Given the description of an element on the screen output the (x, y) to click on. 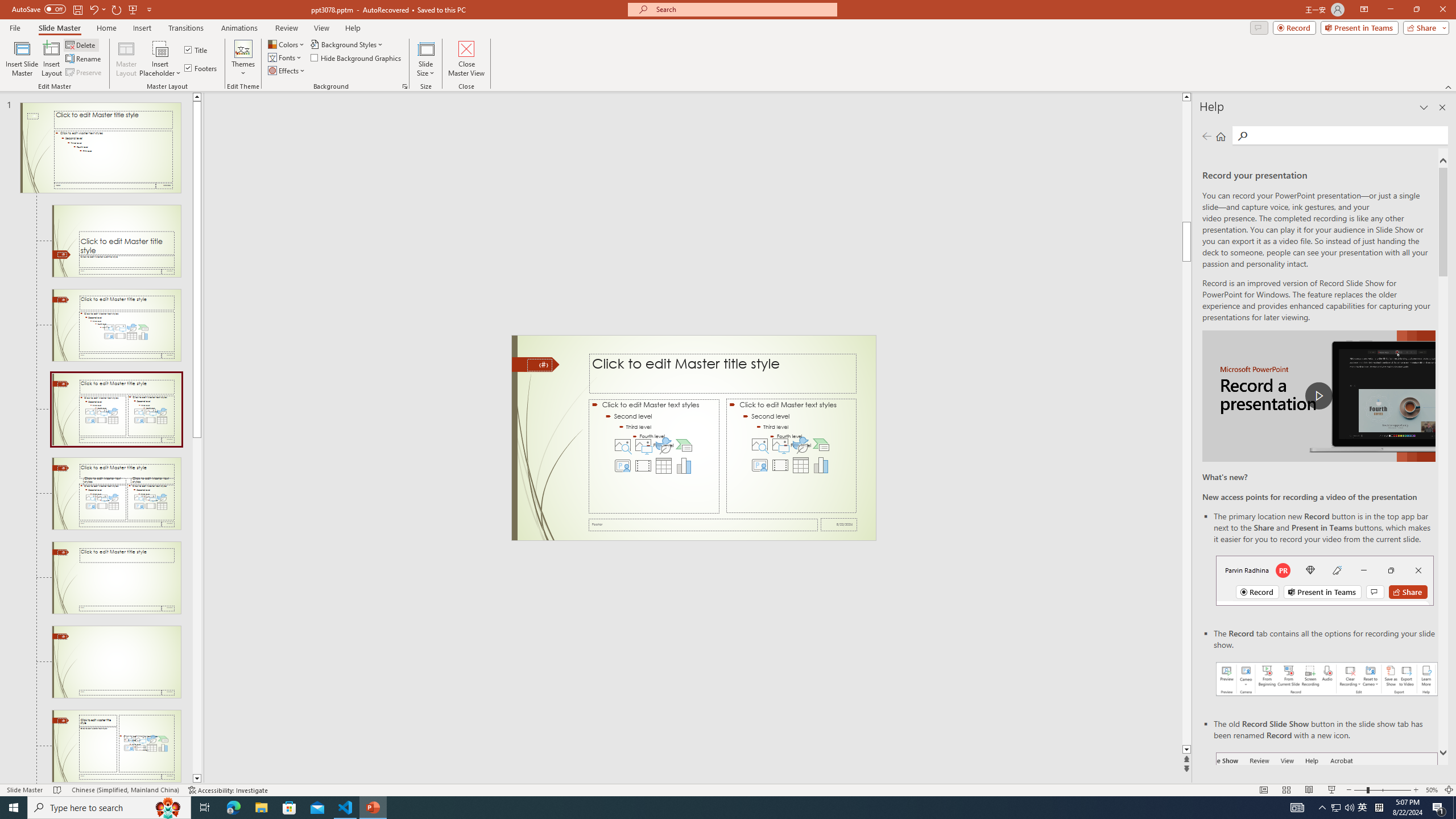
Insert a SmartArt Graphic (820, 444)
Insert an Icon (800, 444)
Slide Size (425, 58)
Microsoft search (742, 9)
Master Layout... (126, 58)
Delete (81, 44)
Slide Title and Content Layout: used by no slides (116, 325)
Line down (197, 778)
Record button in top bar (1324, 580)
Content (160, 48)
